Given the description of an element on the screen output the (x, y) to click on. 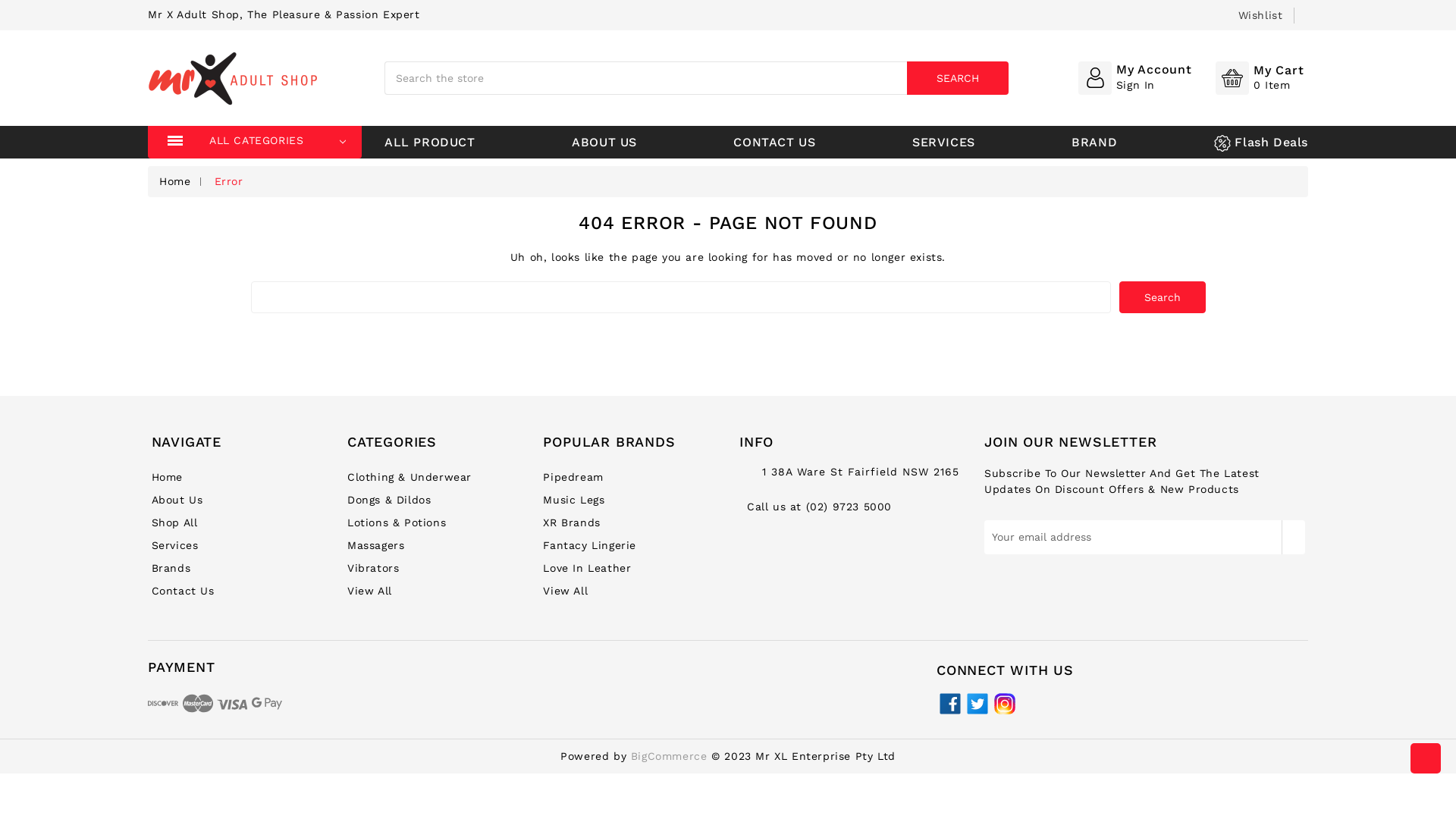
ABOUT US Element type: text (604, 142)
Error Element type: text (228, 181)
Search Element type: text (1162, 297)
Massagers Element type: text (375, 545)
Music Legs Element type: text (573, 499)
My Cart
0 Item Element type: text (1259, 77)
Home Element type: text (166, 476)
About Us Element type: text (177, 499)
Mr XL Enterprise Pty Ltd Element type: hover (232, 77)
ALL PRODUCT Element type: text (429, 142)
Wishlist Element type: text (1260, 15)
Call us at (02) 9723 5000 Element type: text (818, 506)
Lotions & Potions Element type: text (396, 522)
Flash Deals Element type: text (1261, 142)
SEARCH Element type: text (957, 77)
Love In Leather Element type: text (586, 567)
Services Element type: text (174, 545)
View All Element type: text (564, 590)
XR Brands Element type: text (570, 522)
Vibrators Element type: text (372, 567)
ALL CATEGORIES Element type: text (279, 141)
Subscribe Element type: text (1293, 537)
Fantacy Lingerie Element type: text (589, 545)
Shop All Element type: text (174, 522)
BRAND Element type: text (1094, 142)
BigCommerce Element type: text (668, 755)
Brands Element type: text (171, 567)
Scroll to Top Element type: hover (1425, 758)
Clothing & Underwear Element type: text (409, 476)
Dongs & Dildos Element type: text (388, 499)
SERVICES Element type: text (943, 142)
View All Element type: text (369, 590)
Contact Us Element type: text (182, 590)
Home Element type: text (174, 181)
My Account
Sign In Element type: text (1135, 76)
Pipedream Element type: text (572, 476)
CONTACT US Element type: text (774, 142)
